Given the description of an element on the screen output the (x, y) to click on. 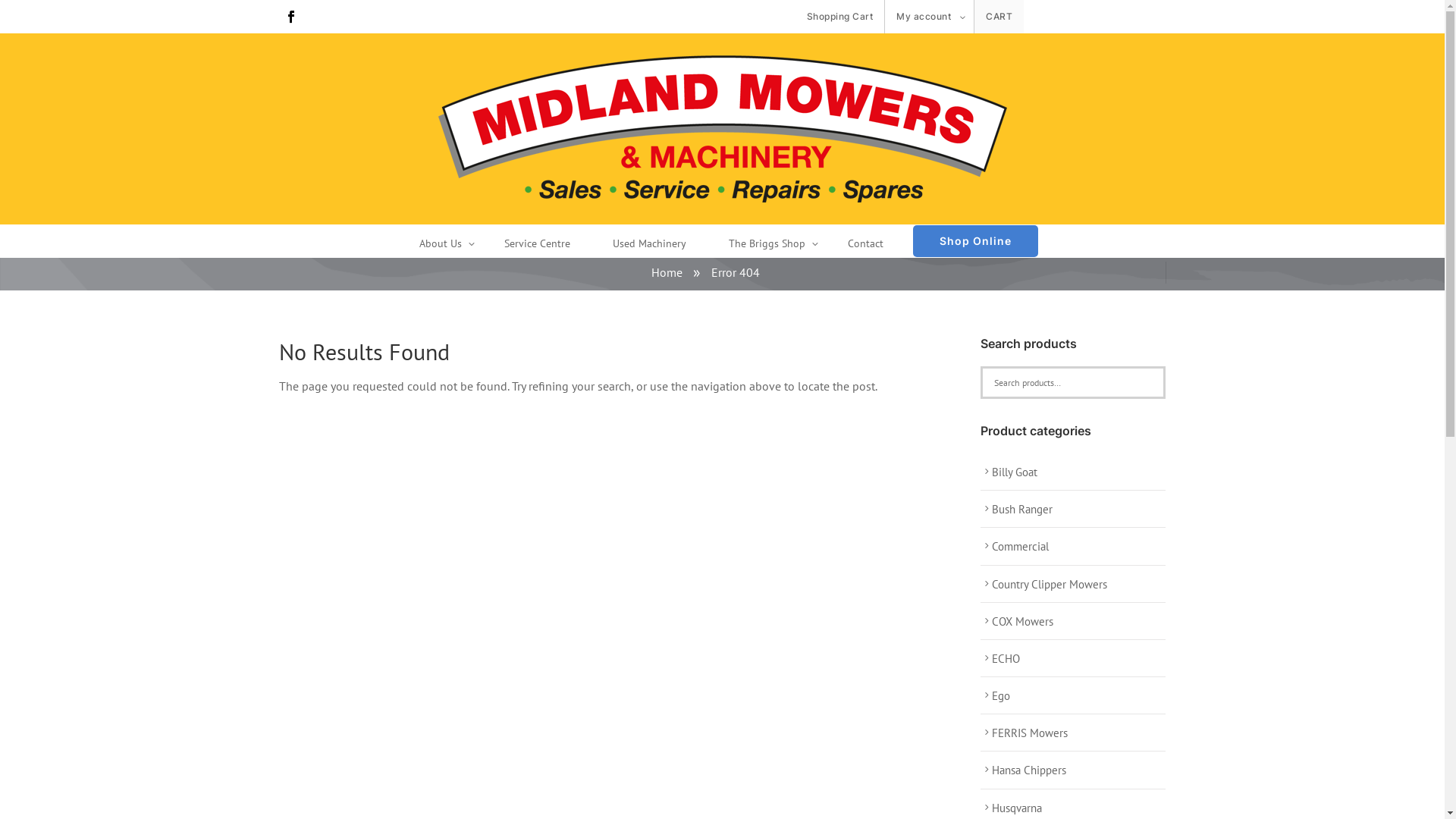
Ego Element type: text (995, 695)
Contact Element type: text (865, 245)
Shop Online Element type: text (975, 241)
The Briggs Shop Element type: text (766, 245)
About Us Element type: text (440, 245)
Country Clipper Mowers Element type: text (1043, 584)
Hansa Chippers Element type: text (1023, 769)
ECHO Element type: text (999, 658)
Used Machinery Element type: text (649, 245)
Commercial Element type: text (1014, 546)
Husqvarna Element type: text (1010, 807)
Search Element type: text (35, 20)
FERRIS Mowers Element type: text (1023, 732)
My account Element type: text (928, 16)
Billy Goat Element type: text (1008, 471)
Shopping Cart Element type: text (839, 16)
COX Mowers Element type: text (1016, 621)
Service Centre Element type: text (537, 245)
Follow on Facebook Element type: hover (291, 16)
CART Element type: text (998, 16)
Home Element type: text (665, 271)
logo (1) Element type: hover (722, 128)
Bush Ranger Element type: text (1016, 509)
